Given the description of an element on the screen output the (x, y) to click on. 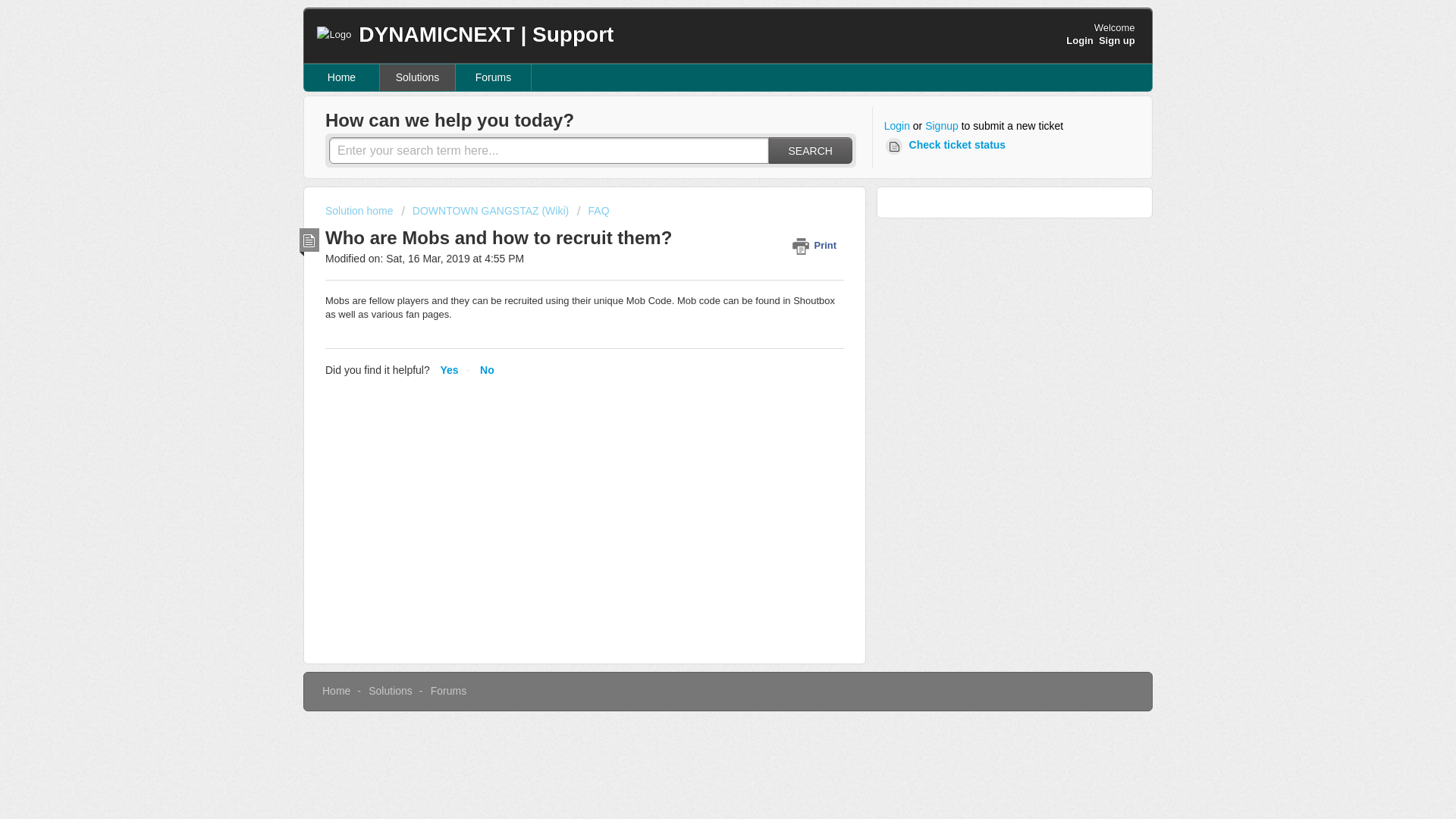
Forums (493, 77)
Print (818, 244)
Check ticket status (947, 146)
Solution home (360, 210)
Check ticket status (947, 146)
Home (342, 77)
Forums (447, 690)
Solutions (390, 690)
Login (1079, 40)
SEARCH (809, 150)
Signup (941, 126)
Print this Article (818, 244)
Home (335, 690)
FAQ (592, 210)
Login (896, 126)
